Given the description of an element on the screen output the (x, y) to click on. 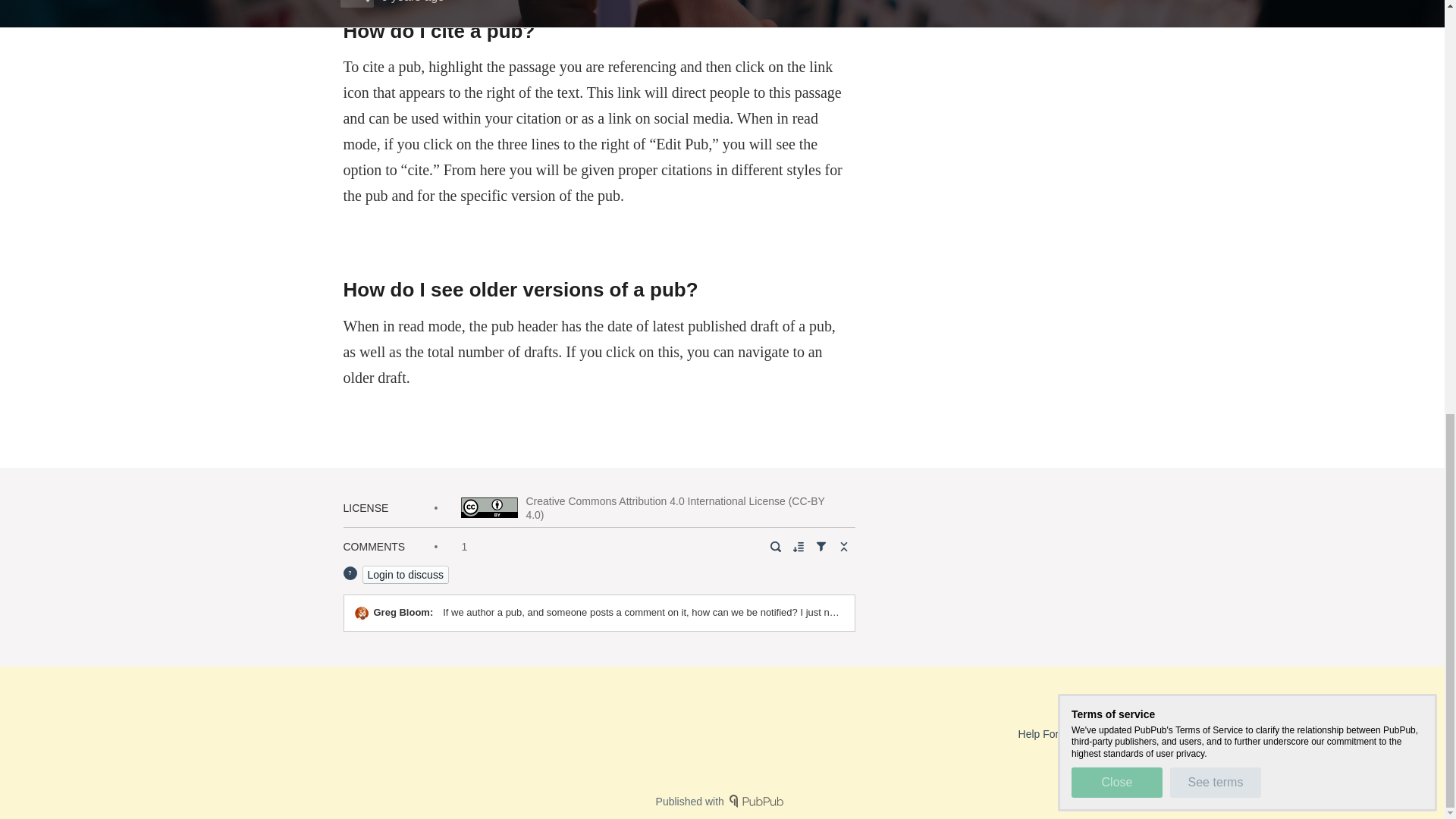
Login to discuss (405, 574)
RSS (1104, 734)
PubPub Help (1116, 707)
Help Forum (1045, 734)
Published with (722, 801)
Legal (1145, 734)
